Given the description of an element on the screen output the (x, y) to click on. 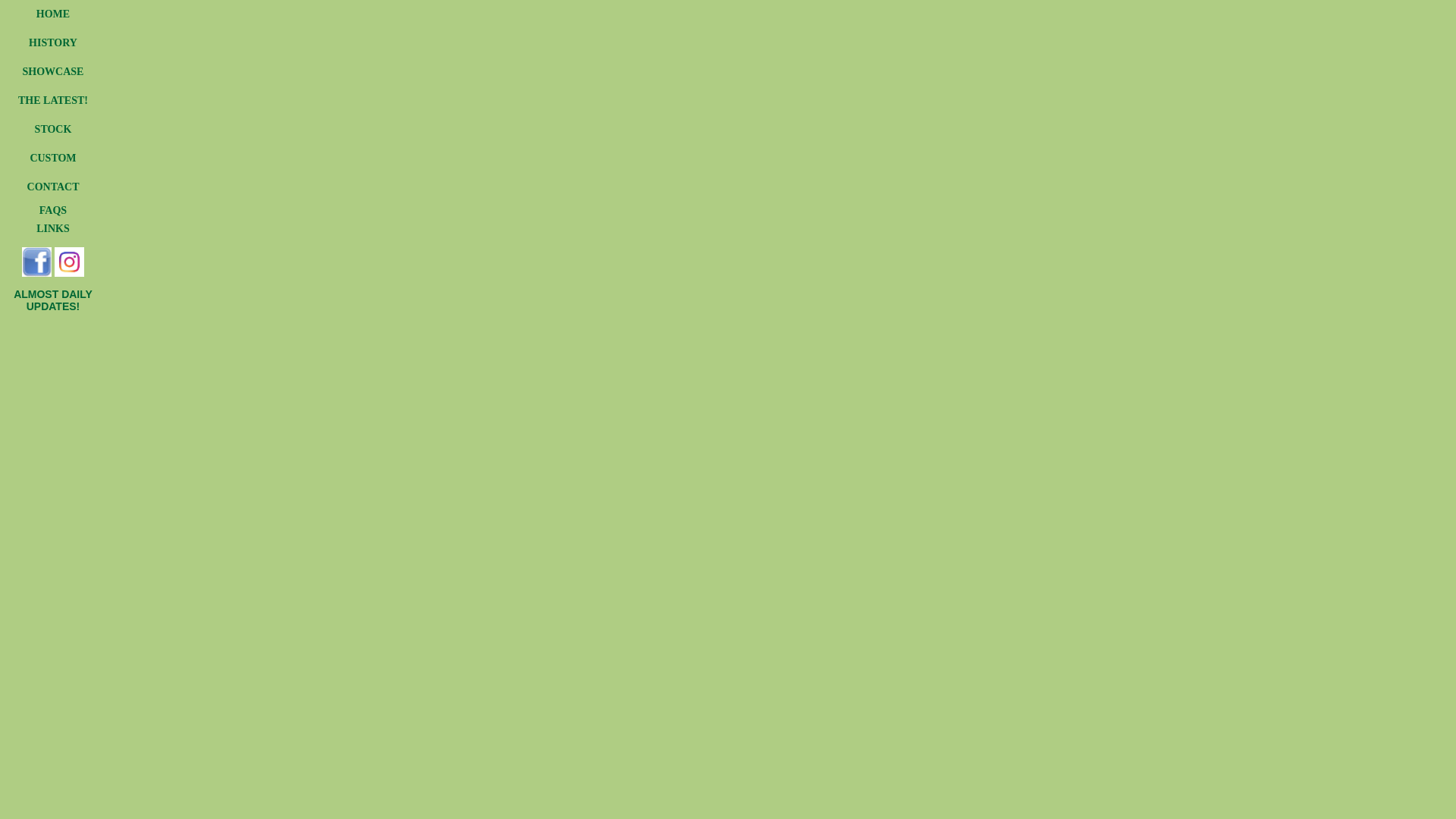
FAQS Element type: text (52, 210)
CUSTOM Element type: text (52, 157)
HOME Element type: text (52, 13)
CONTACT Element type: text (53, 186)
STOCK Element type: text (53, 128)
LINKS Element type: text (52, 228)
ALMOST DAILY UPDATES! Element type: text (52, 300)
HISTORY Element type: text (52, 42)
THE LATEST! Element type: text (52, 100)
SHOWCASE Element type: text (53, 71)
